Given the description of an element on the screen output the (x, y) to click on. 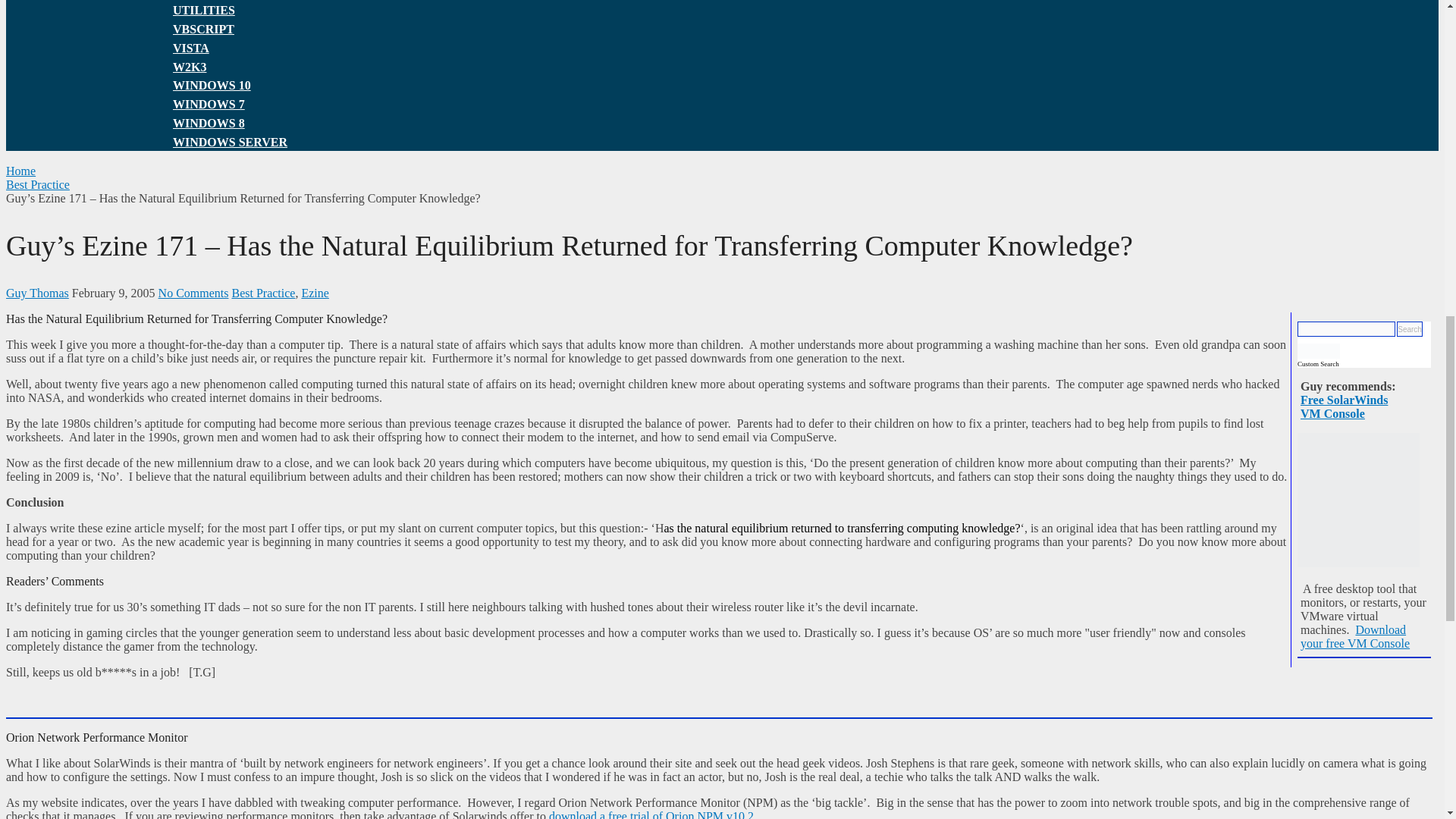
Search (1409, 328)
View all posts in Best Practice (263, 292)
View all posts in Ezine (315, 292)
Posts by Guy Thomas (36, 292)
